Given the description of an element on the screen output the (x, y) to click on. 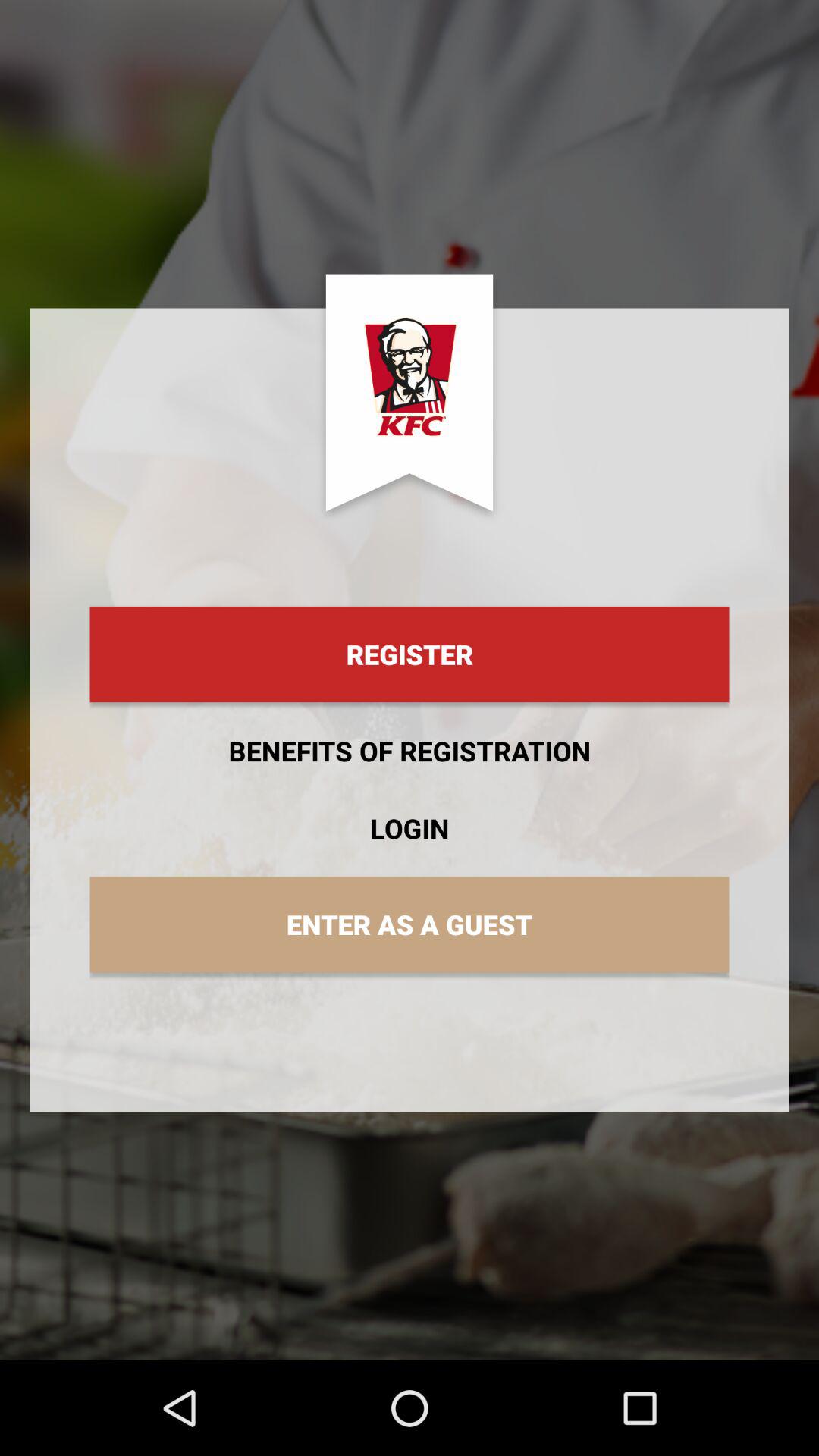
turn off icon above login item (409, 750)
